Given the description of an element on the screen output the (x, y) to click on. 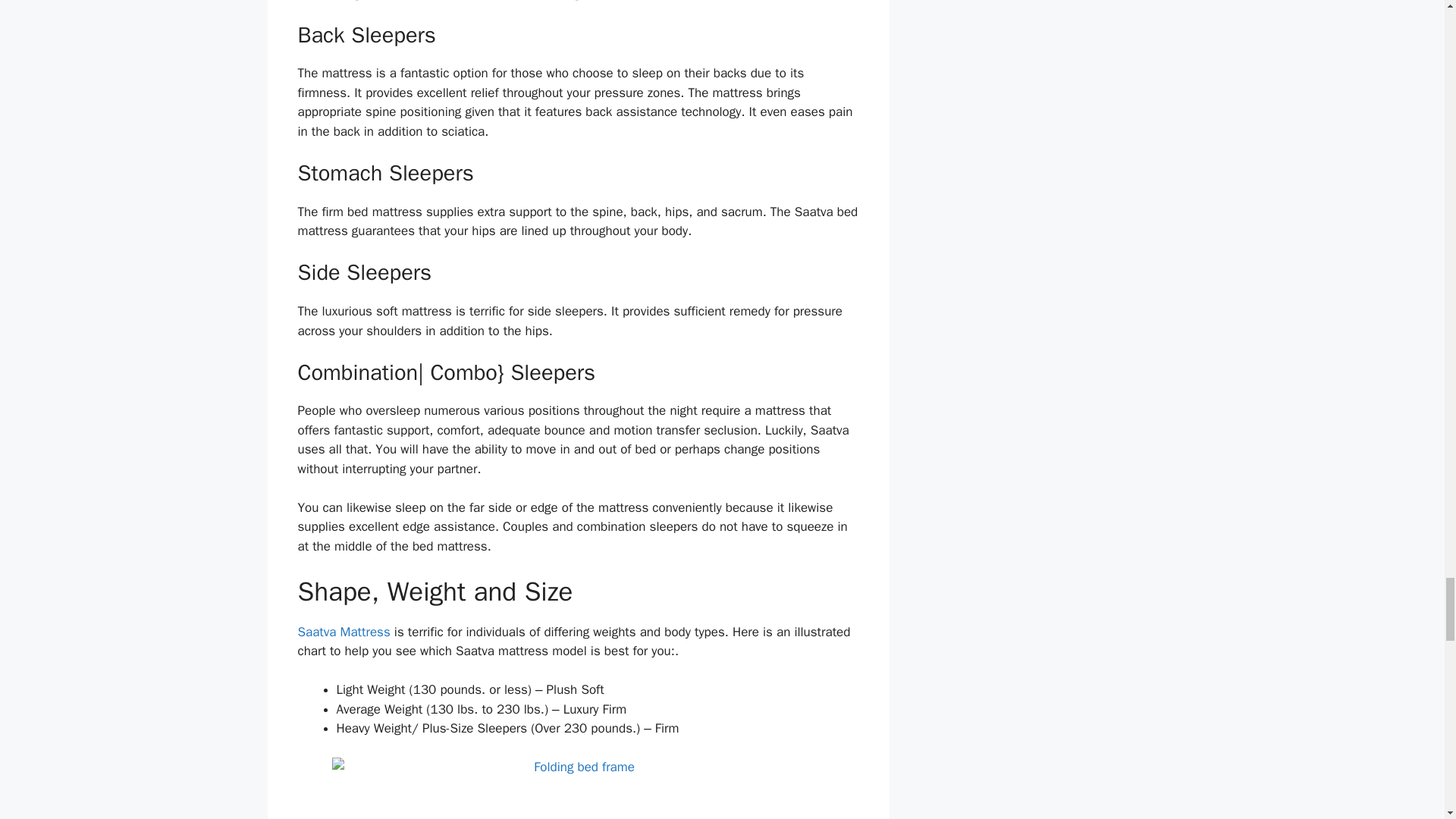
Saatva Mattress (343, 631)
